Given the description of an element on the screen output the (x, y) to click on. 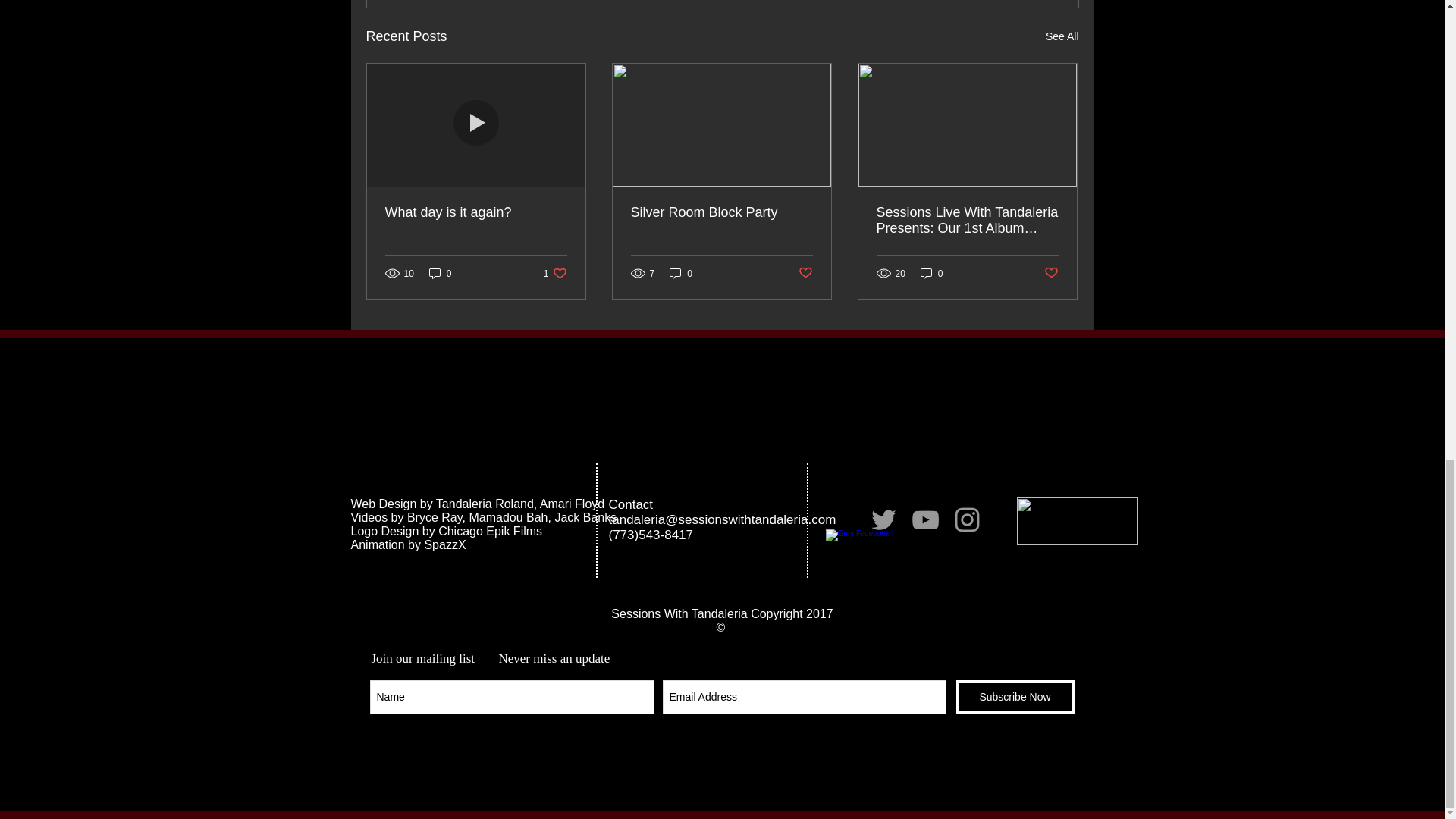
Post not marked as liked (1050, 273)
0 (440, 273)
See All (555, 273)
Post not marked as liked (1061, 36)
What day is it again? (804, 273)
0 (476, 212)
Silver Room Block Party (681, 273)
0 (721, 212)
